Given the description of an element on the screen output the (x, y) to click on. 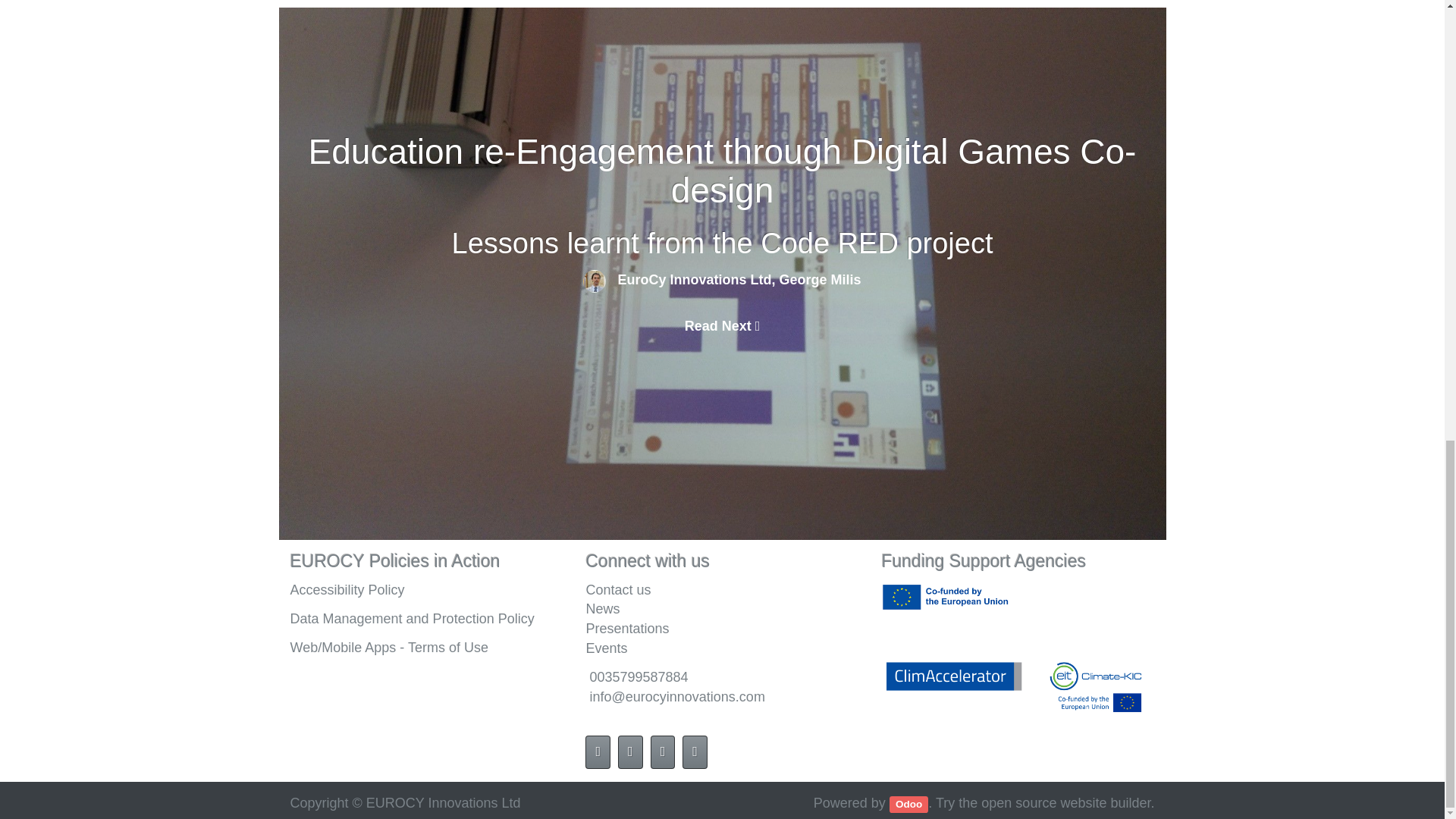
Data Management and Protection Policy (411, 618)
Events (606, 648)
Contact us (722, 589)
News (722, 609)
Presentations (722, 629)
open source website builder (1065, 802)
Accessibility Policy (346, 589)
Odoo (908, 804)
